Given the description of an element on the screen output the (x, y) to click on. 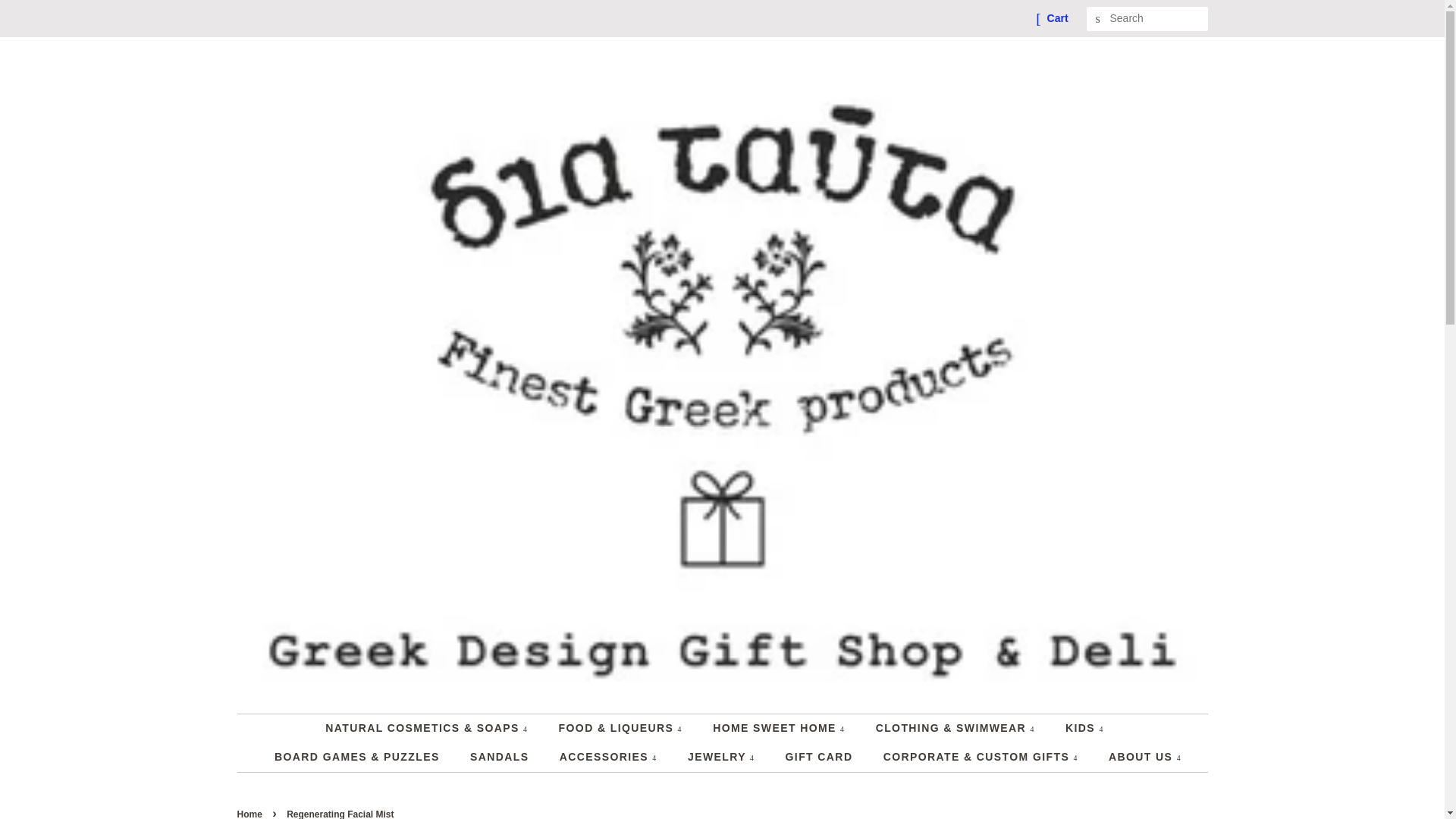
SEARCH (1097, 18)
Back to the frontpage (249, 814)
Cart (1057, 18)
